Given the description of an element on the screen output the (x, y) to click on. 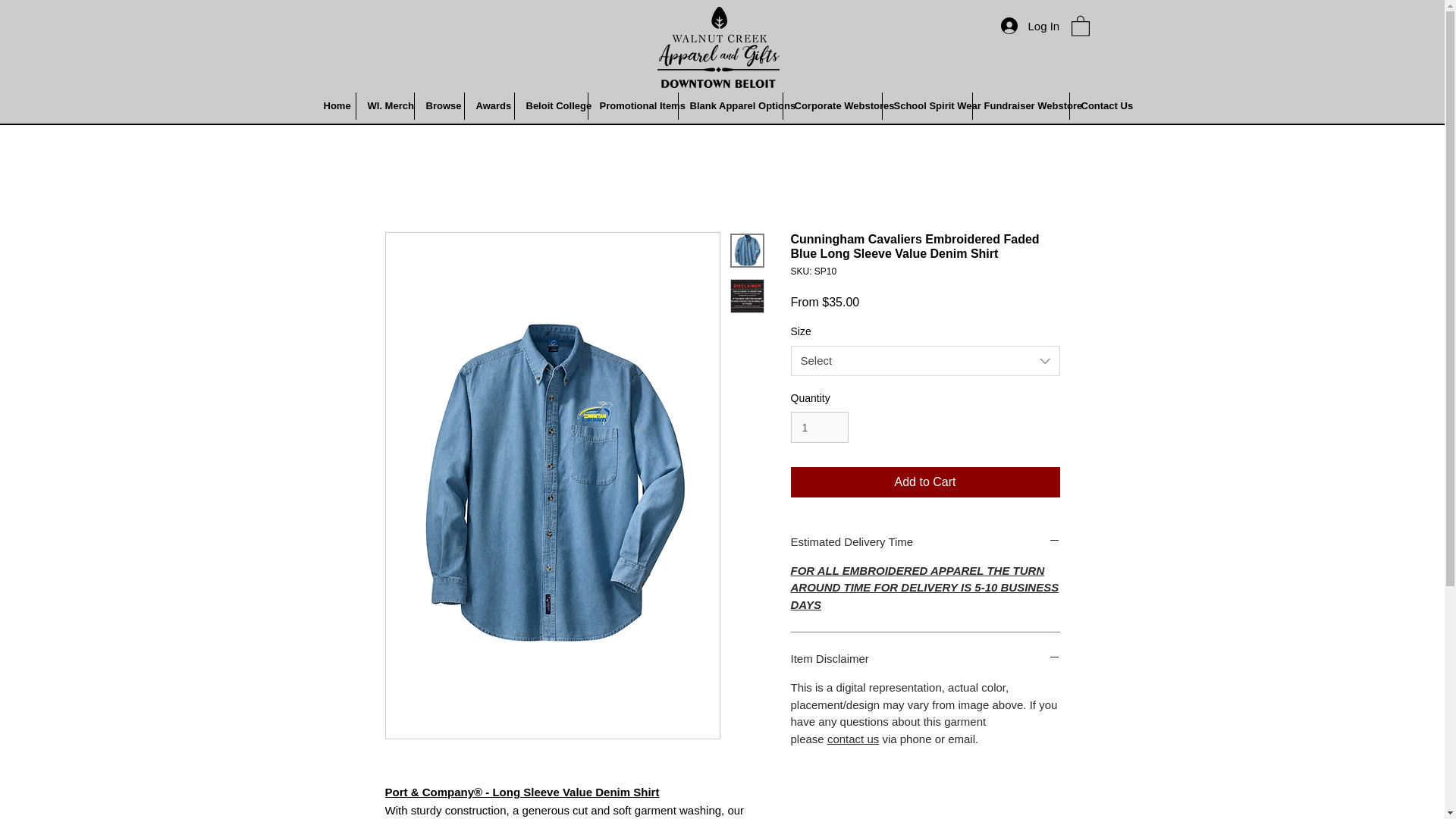
1 (818, 427)
Promotional Items (633, 105)
Log In (1010, 25)
Awards (488, 105)
School Spirit Wear (927, 105)
Home (334, 105)
Browse (438, 105)
Corporate Webstores (831, 105)
Blank Apparel Options (729, 105)
4.png (717, 46)
Beloit College (549, 105)
WI. Merch (384, 105)
